Given the description of an element on the screen output the (x, y) to click on. 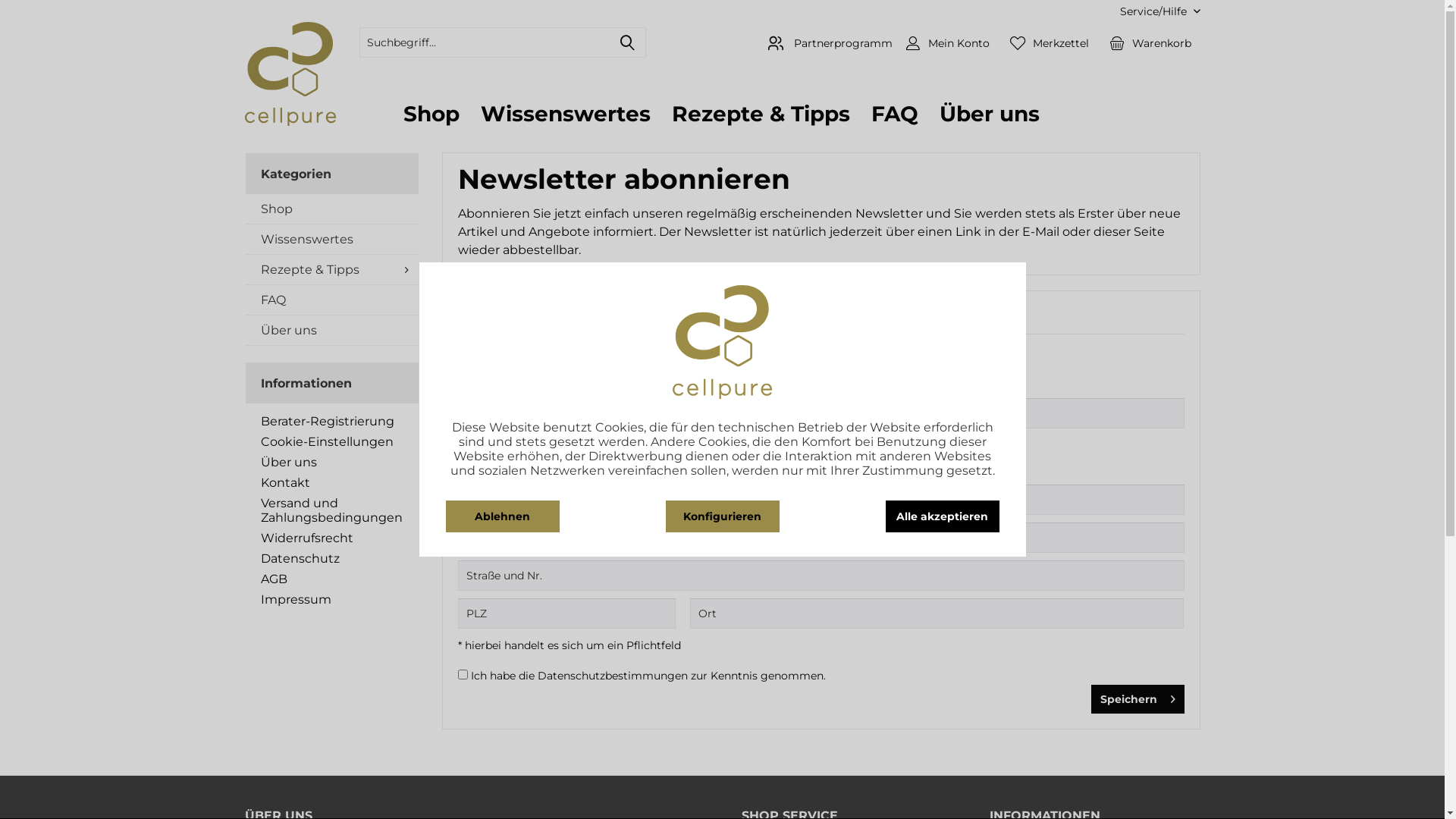
Berater-Registrierung Element type: text (331, 421)
Rezepte & Tipps Element type: text (760, 113)
Rezepte & Tipps Element type: text (331, 269)
Kontakt Element type: text (331, 482)
Cellpure Shop Schweiz - zur Startseite wechseln Element type: hover (289, 73)
Shop Element type: text (331, 209)
Partnerprogramm Element type: text (826, 43)
Wissenswertes Element type: text (331, 239)
Merkzettel Element type: text (1049, 42)
Alle akzeptieren Element type: text (942, 516)
Datenschutz Element type: text (331, 558)
FAQ Element type: text (893, 113)
Datenschutzbestimmungen Element type: text (611, 675)
Widerrufsrecht Element type: text (331, 537)
Shop Element type: text (431, 113)
Wissenswertes Element type: text (565, 113)
Warenkorb Element type: text (1150, 42)
Cookie-Einstellungen Element type: text (331, 441)
Ablehnen Element type: text (502, 516)
Speichern Element type: text (1136, 698)
FAQ Element type: text (331, 300)
Konfigurieren Element type: text (722, 516)
AGB Element type: text (331, 578)
Versand und Zahlungsbedingungen Element type: text (331, 509)
Impressum Element type: text (331, 599)
